Given the description of an element on the screen output the (x, y) to click on. 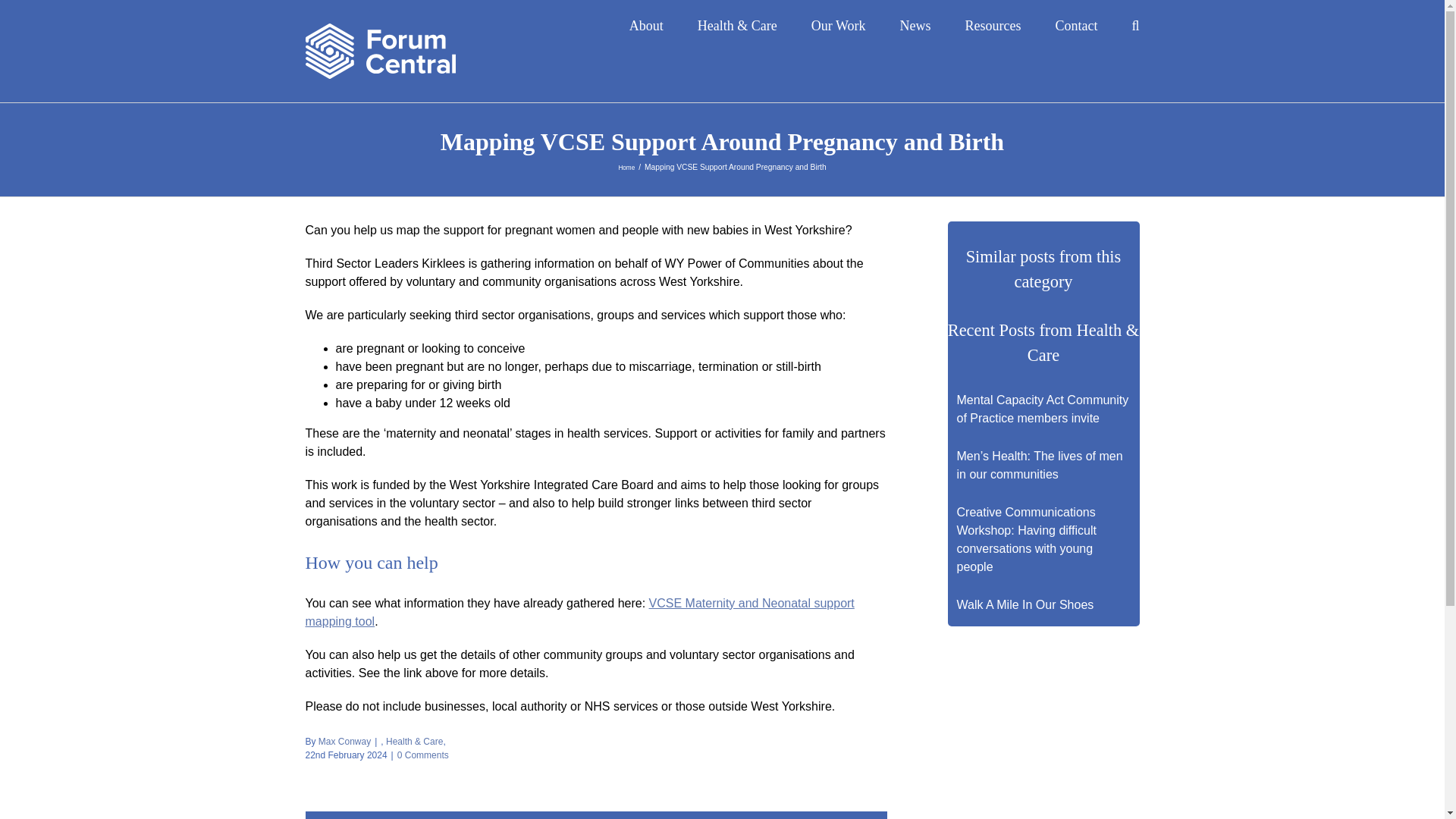
Resources (991, 23)
Our Work (838, 23)
Posts by Max Conway (344, 741)
